Given the description of an element on the screen output the (x, y) to click on. 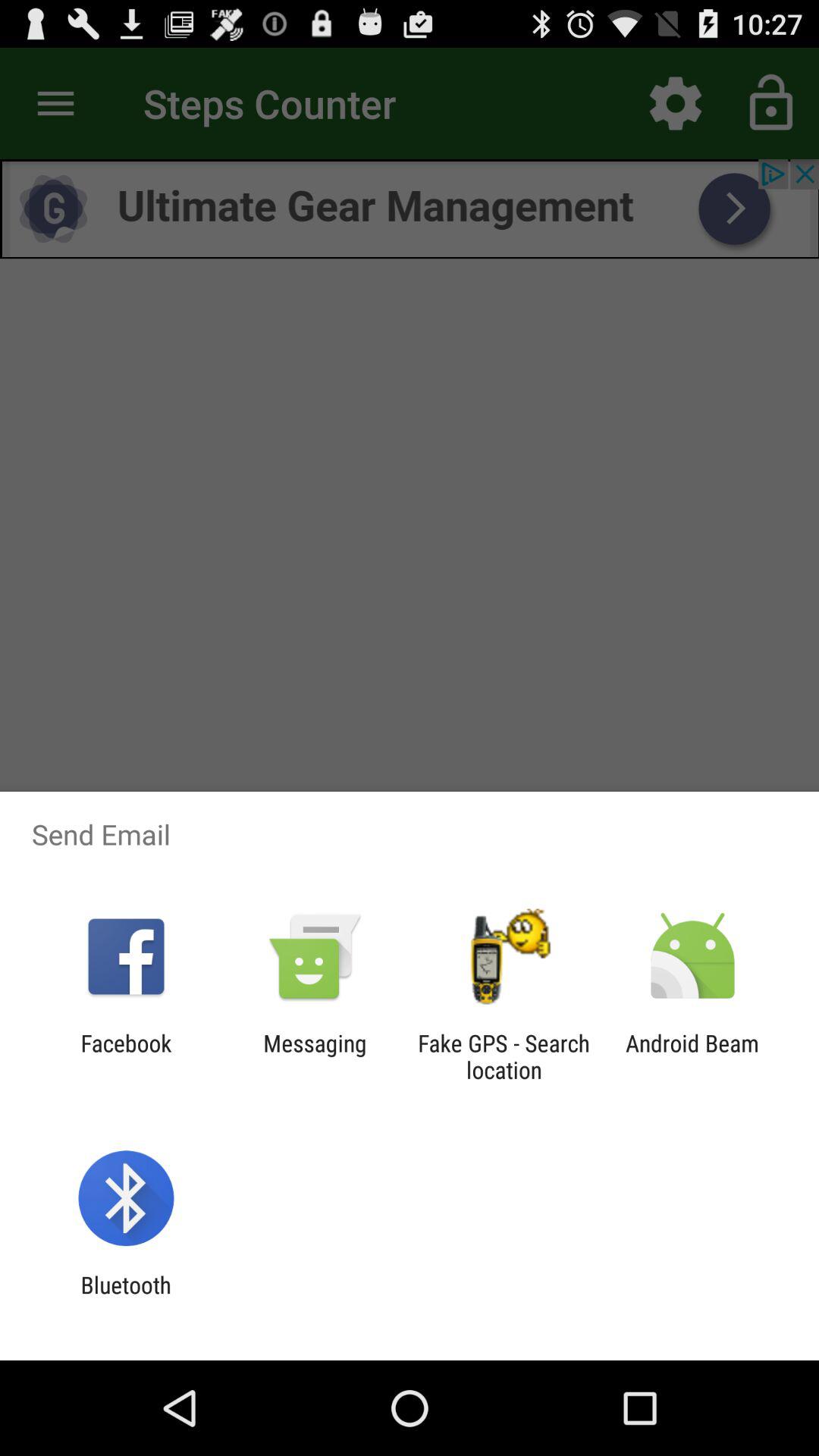
press item next to fake gps search item (692, 1056)
